Given the description of an element on the screen output the (x, y) to click on. 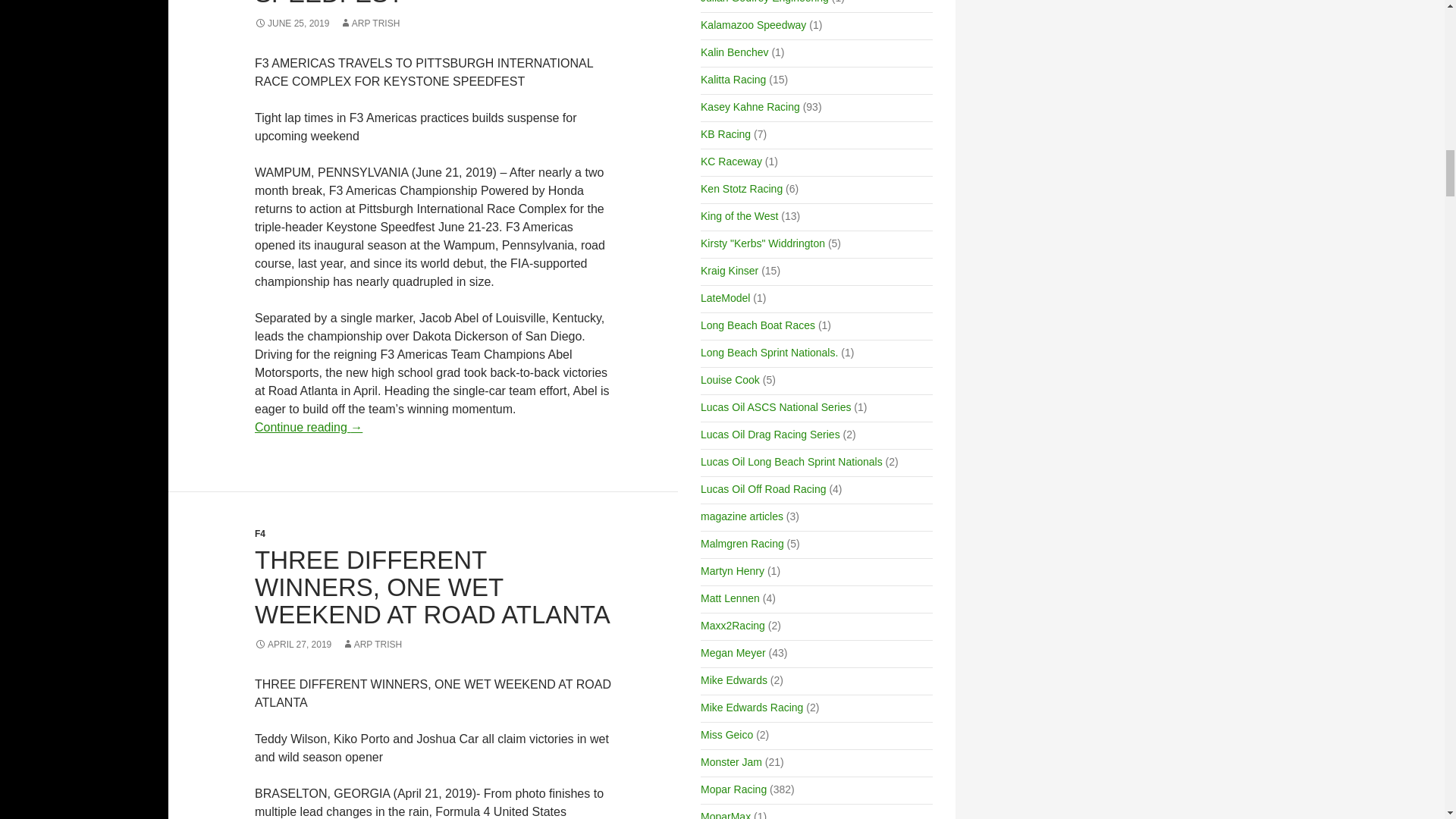
JUNE 25, 2019 (291, 23)
APRIL 27, 2019 (292, 644)
ARP TRISH (369, 23)
ARP TRISH (372, 644)
THREE DIFFERENT WINNERS, ONE WET WEEKEND AT ROAD ATLANTA (432, 587)
F4 (259, 533)
